Given the description of an element on the screen output the (x, y) to click on. 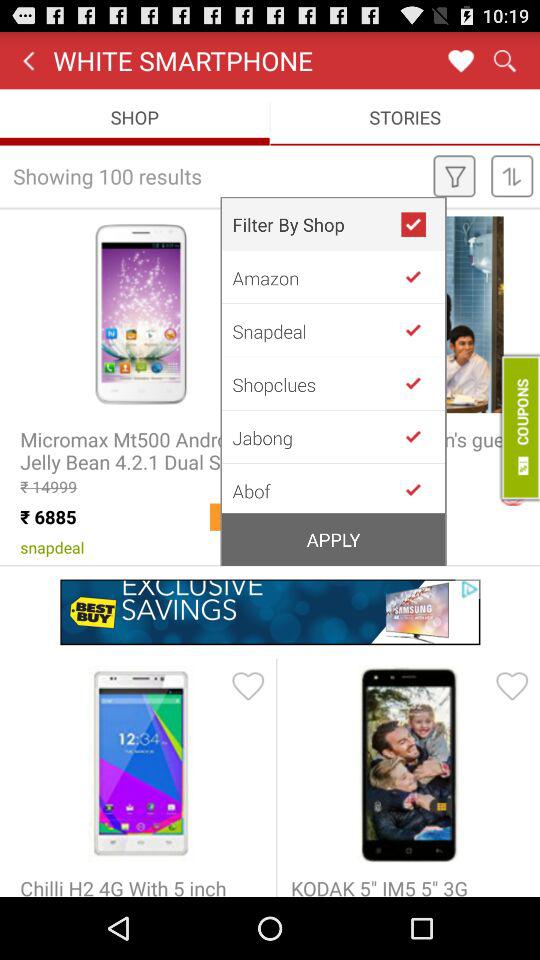
go back (421, 383)
